Given the description of an element on the screen output the (x, y) to click on. 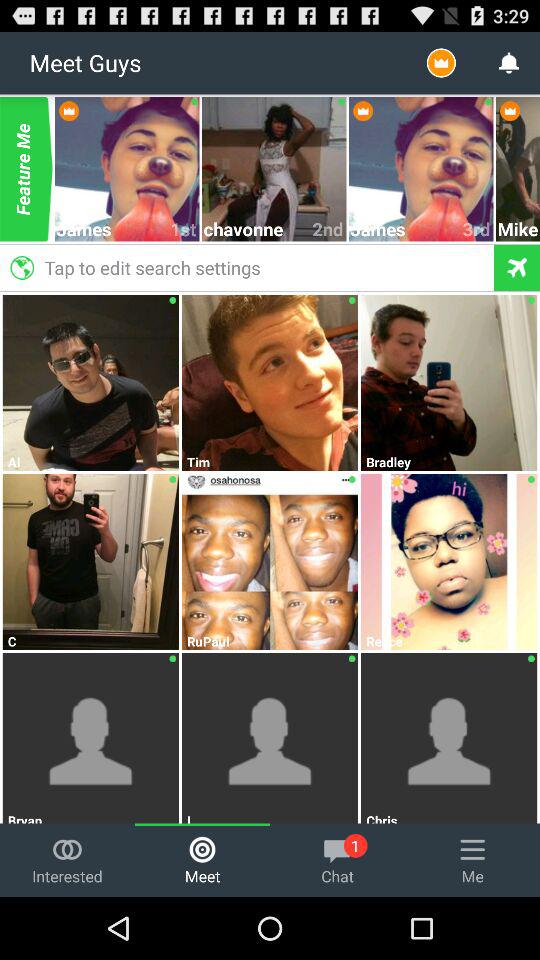
press the app to the right of the tap to edit icon (518, 228)
